Given the description of an element on the screen output the (x, y) to click on. 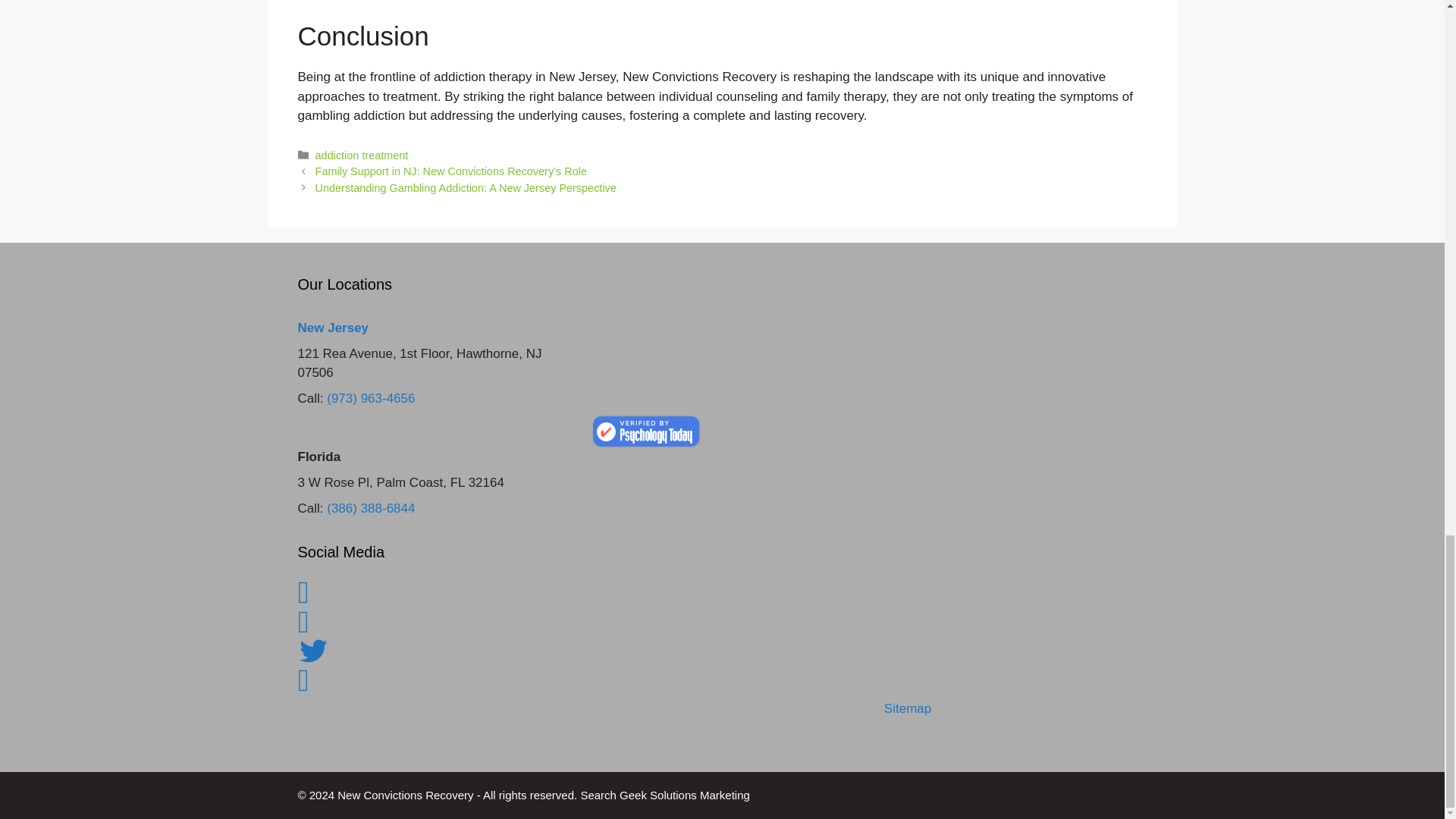
Roland Achtau (646, 431)
